Given the description of an element on the screen output the (x, y) to click on. 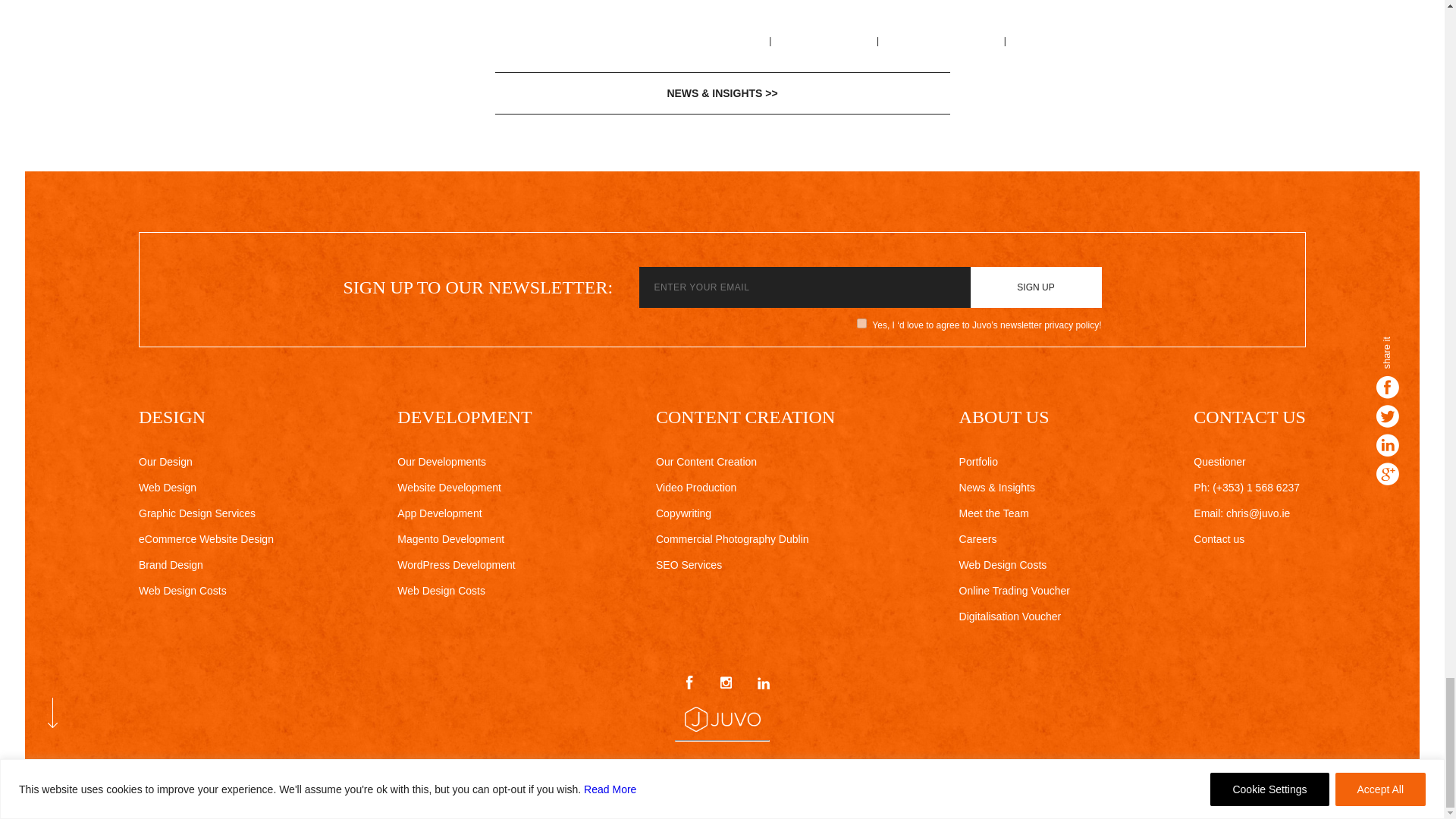
Call us (1246, 487)
SIGN UP (1036, 286)
Email (1241, 512)
Call us (1218, 461)
Contact Us Form (1218, 538)
1 (861, 323)
